Given the description of an element on the screen output the (x, y) to click on. 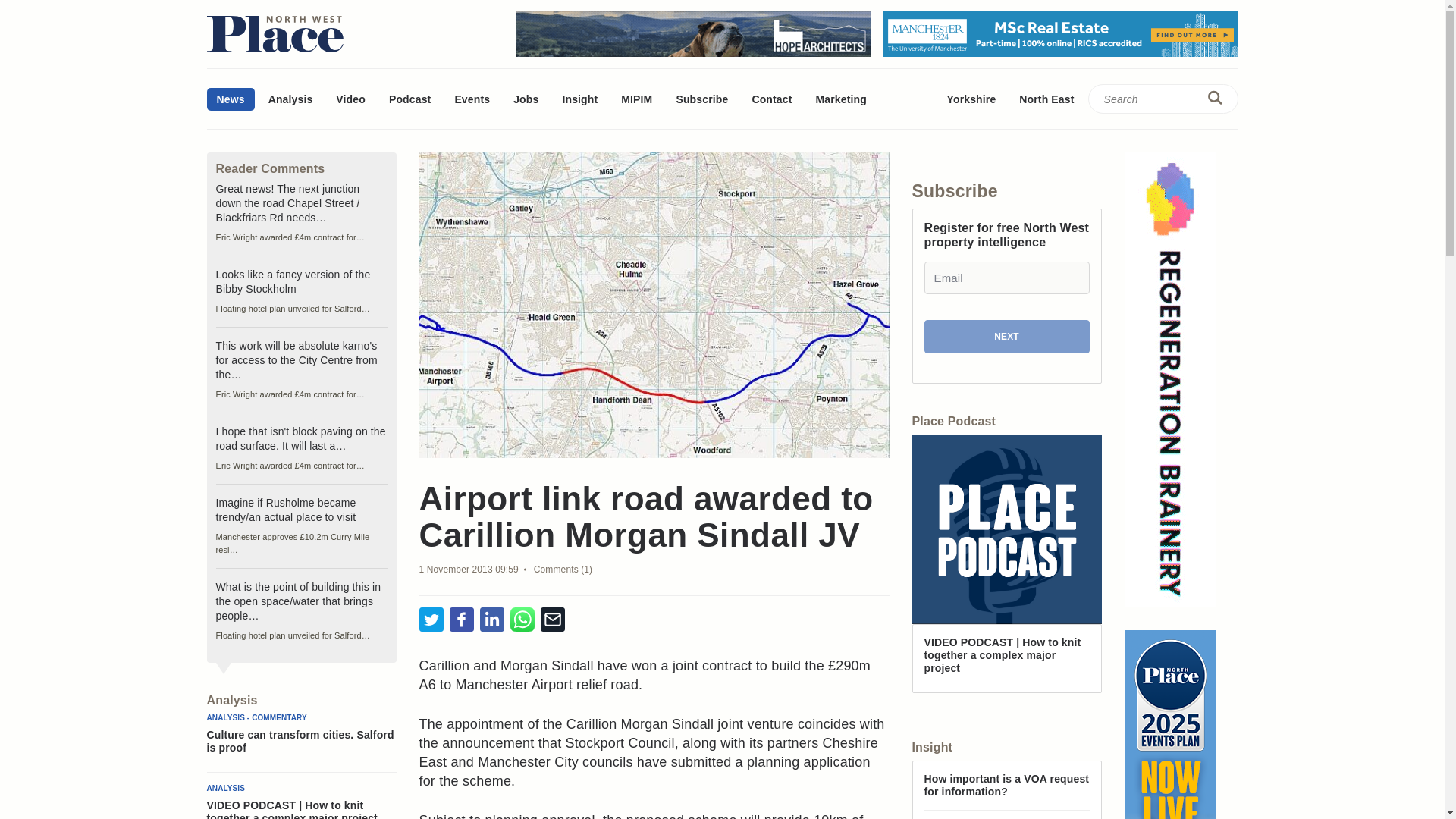
MIPIM (636, 98)
Analysis (291, 98)
Contact (771, 98)
Share on WhatsApp (521, 620)
Share on LinkedIn (491, 620)
Podcast (409, 98)
Share on Twiiter (430, 620)
Share on Facebook (460, 620)
Events (471, 98)
Insight (579, 98)
Yorkshire (971, 98)
Next (1006, 336)
Jobs (525, 98)
Subscribe (701, 98)
Share by Email (552, 620)
